Given the description of an element on the screen output the (x, y) to click on. 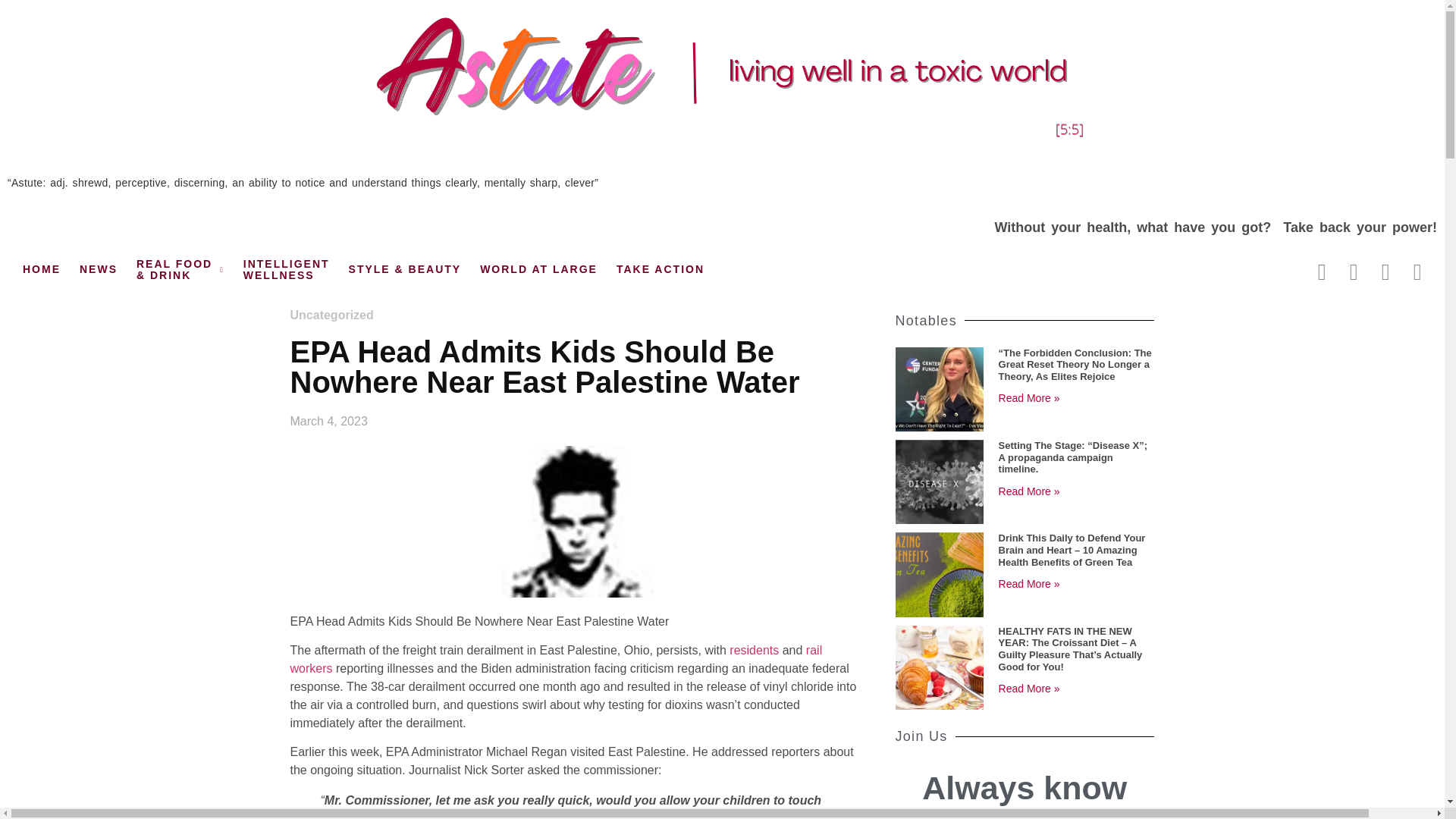
WORLD AT LARGE (538, 269)
March 4, 2023 (327, 421)
Uncategorized (330, 314)
TAKE ACTION (659, 269)
NEWS (98, 269)
residents (753, 649)
rail workers (555, 658)
HOME (286, 269)
